Given the description of an element on the screen output the (x, y) to click on. 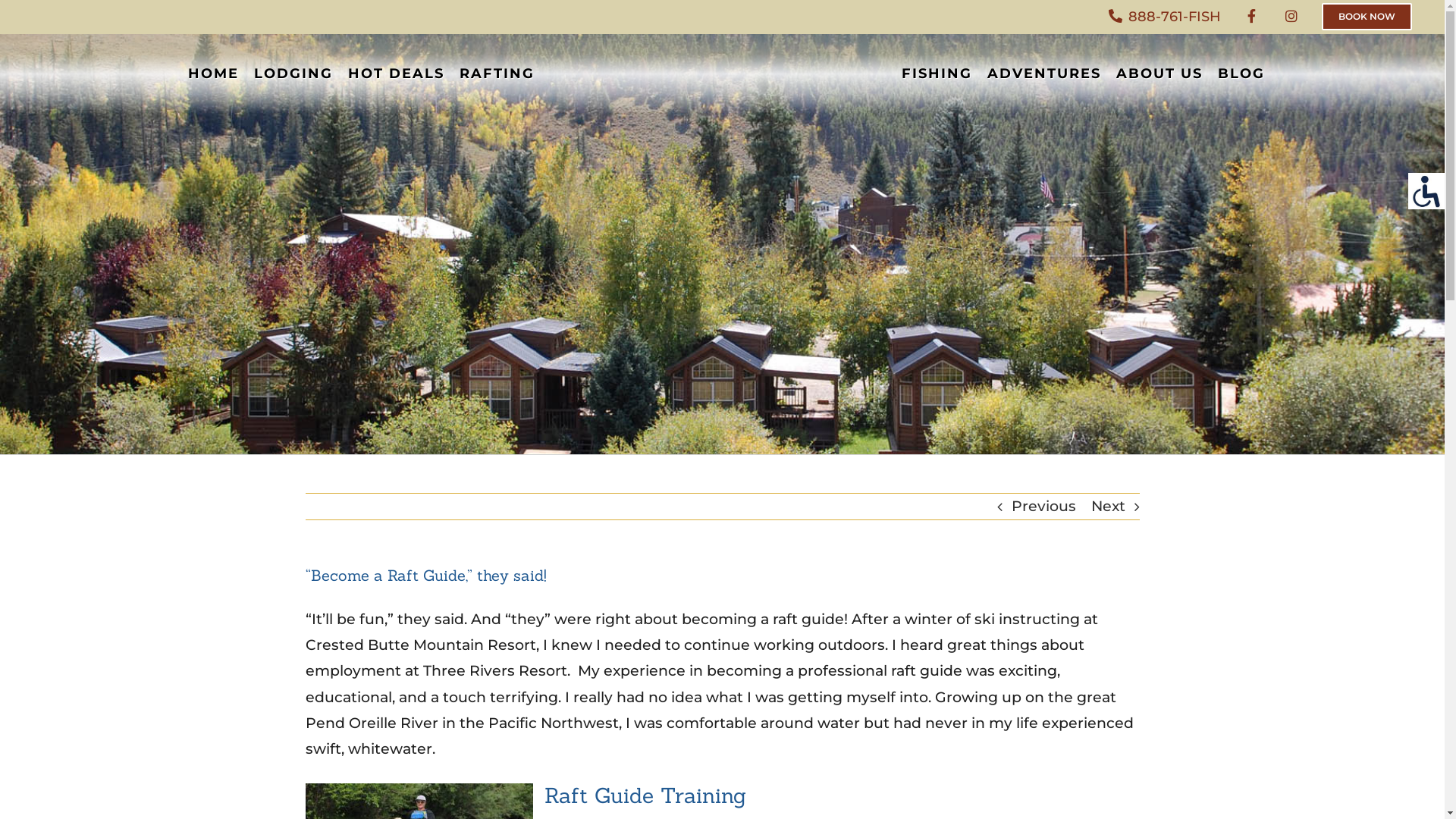
Facebook (opens in a new window) Element type: hover (1250, 16)
BLOG Element type: text (1241, 73)
HOT DEALS Element type: text (395, 73)
888-761-FISH Element type: text (1164, 16)
ABOUT US Element type: text (1159, 73)
Instagram (opens in a new window) Element type: hover (1291, 16)
Next Element type: text (1107, 506)
RAFTING Element type: text (496, 73)
FISHING Element type: text (936, 73)
BOOK NOW Element type: text (1366, 16)
Previous Element type: text (1043, 506)
HOME Element type: text (213, 73)
LODGING Element type: text (293, 73)
ADVENTURES Element type: text (1043, 73)
Accessibility Helper sidebar Element type: hover (1426, 190)
